Given the description of an element on the screen output the (x, y) to click on. 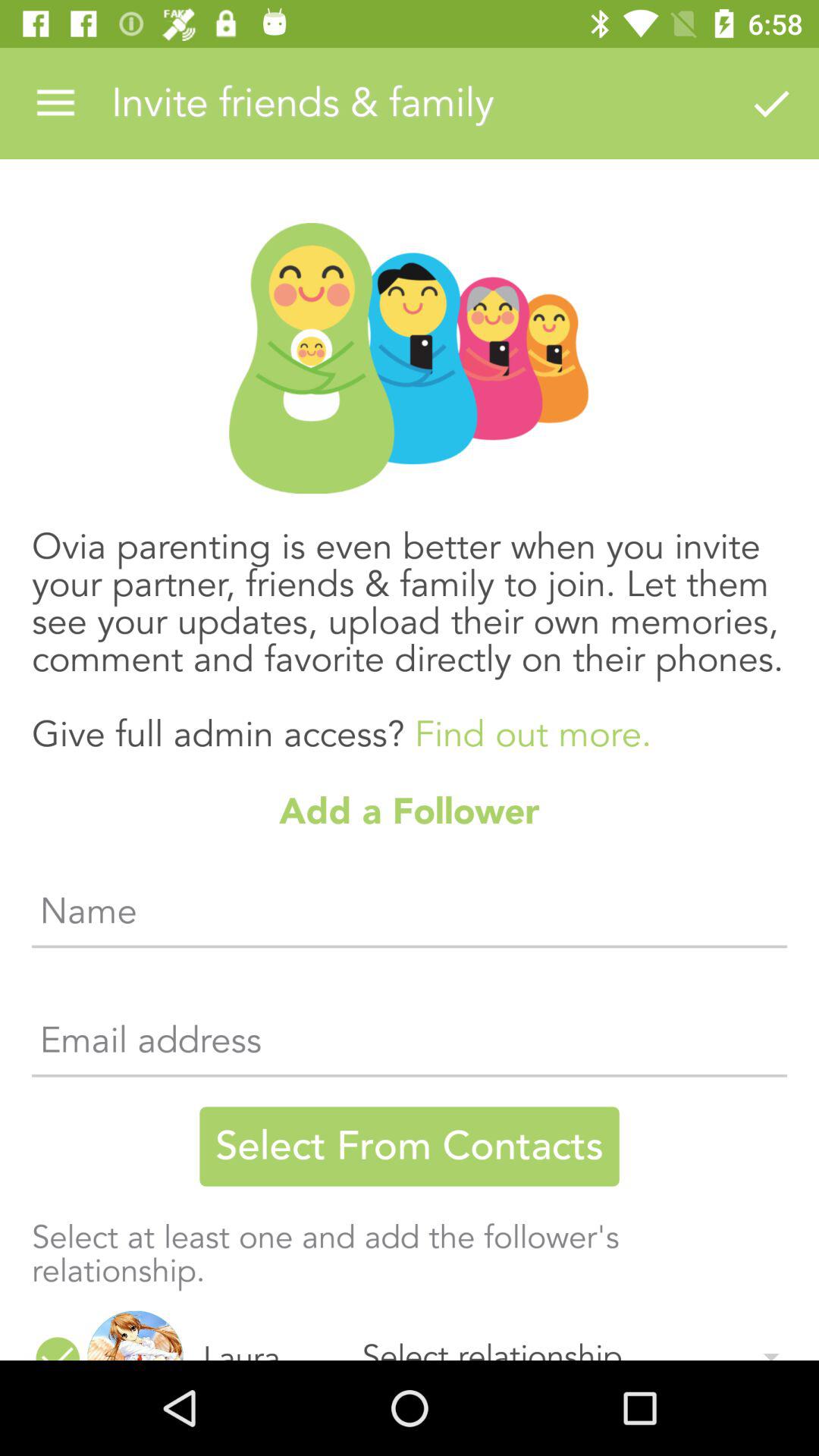
choose icon below select at least item (57, 1346)
